Given the description of an element on the screen output the (x, y) to click on. 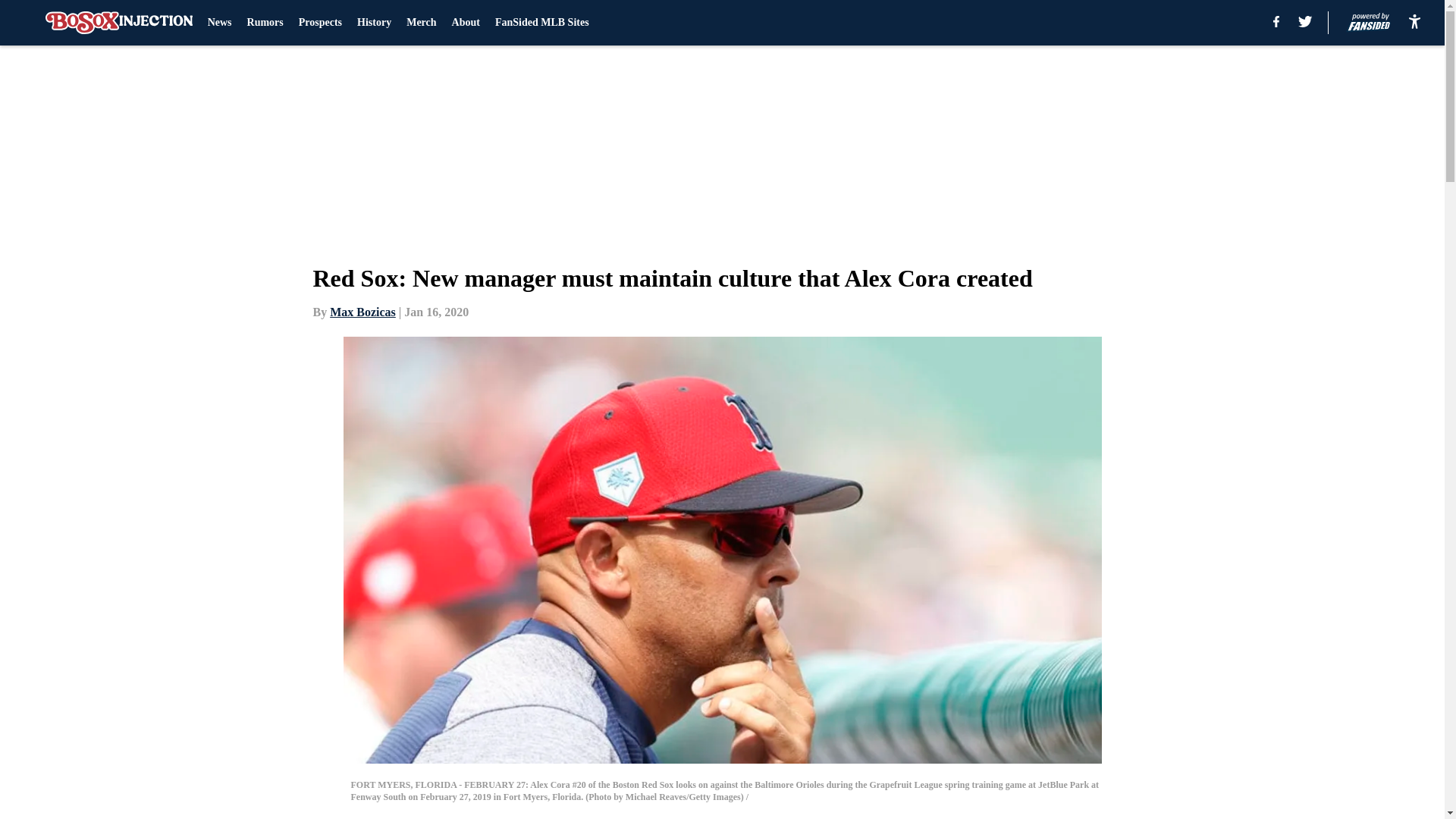
Prospects (320, 22)
Rumors (265, 22)
Max Bozicas (363, 311)
About (465, 22)
News (219, 22)
FanSided MLB Sites (542, 22)
Merch (420, 22)
History (373, 22)
